Given the description of an element on the screen output the (x, y) to click on. 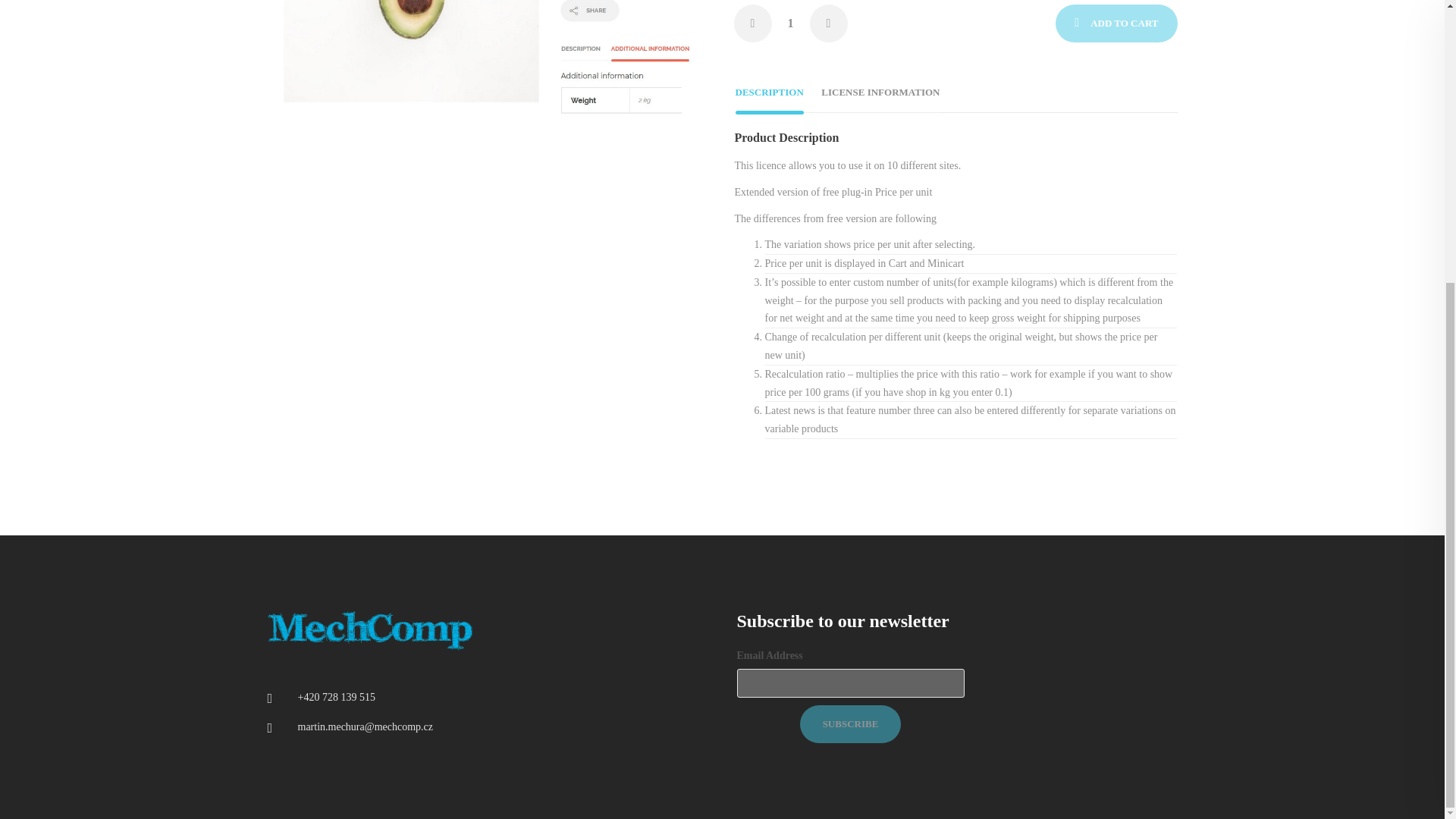
Subscribe (850, 723)
Recalculation ratio - Frontend (485, 67)
1 (790, 23)
